Given the description of an element on the screen output the (x, y) to click on. 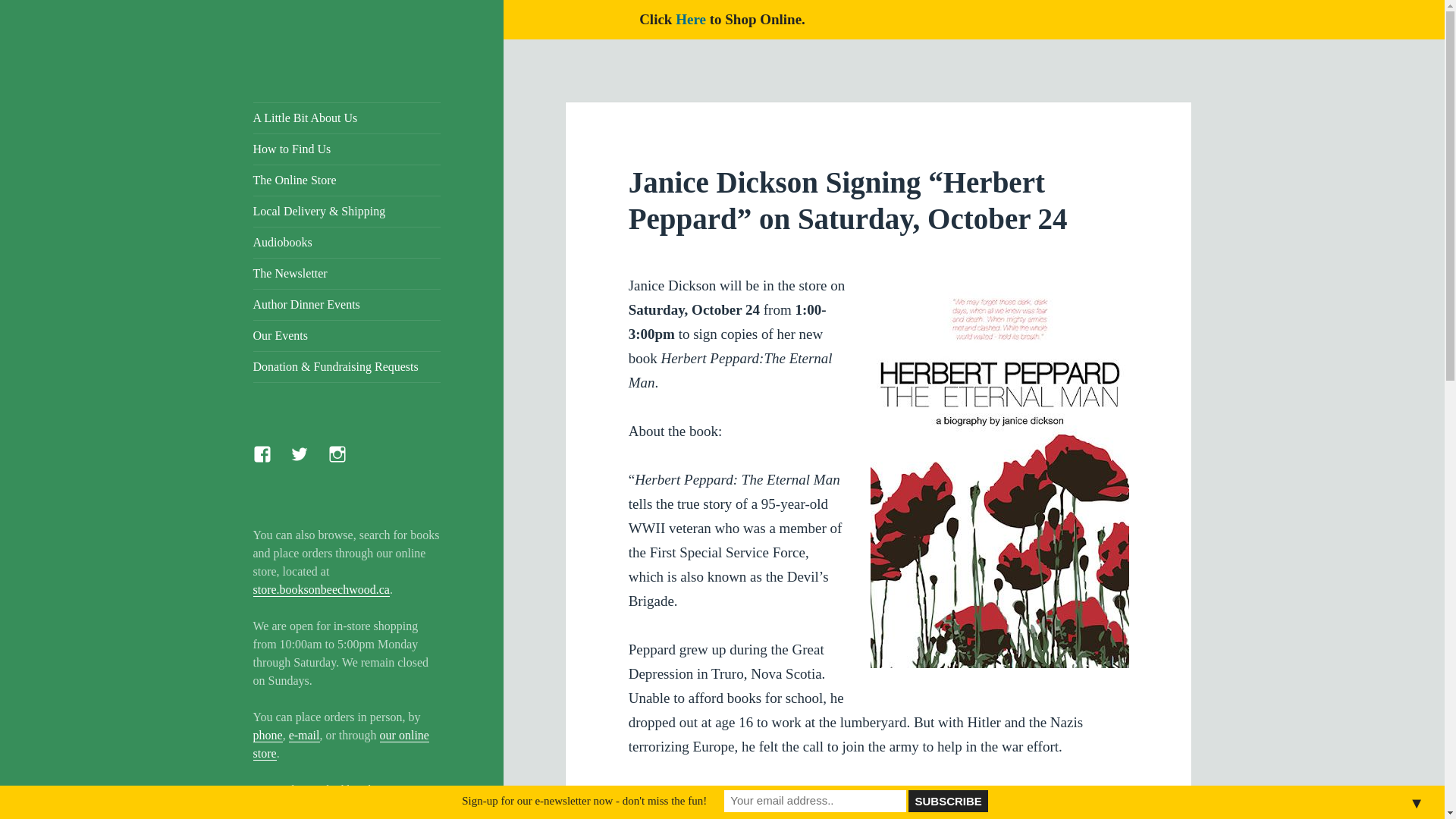
Author Dinner Events (347, 304)
The Newsletter (347, 272)
613-742-5030 (287, 807)
Audiobooks (347, 242)
our online store (341, 744)
Instagram (347, 463)
store.booksonbeechwood.ca (321, 590)
Books On Beechwood (310, 126)
phone (267, 735)
e-mail (304, 735)
